Given the description of an element on the screen output the (x, y) to click on. 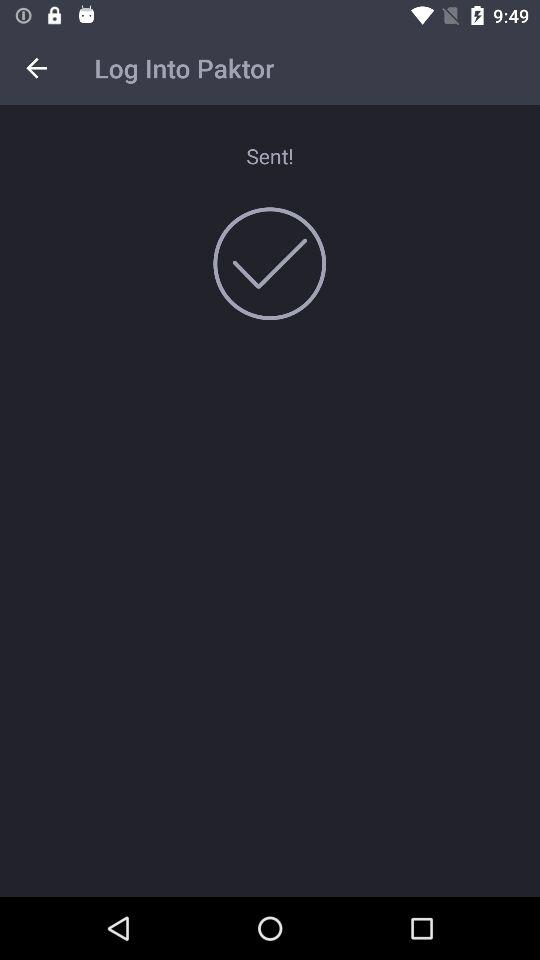
open the item above the sent! icon (36, 68)
